Given the description of an element on the screen output the (x, y) to click on. 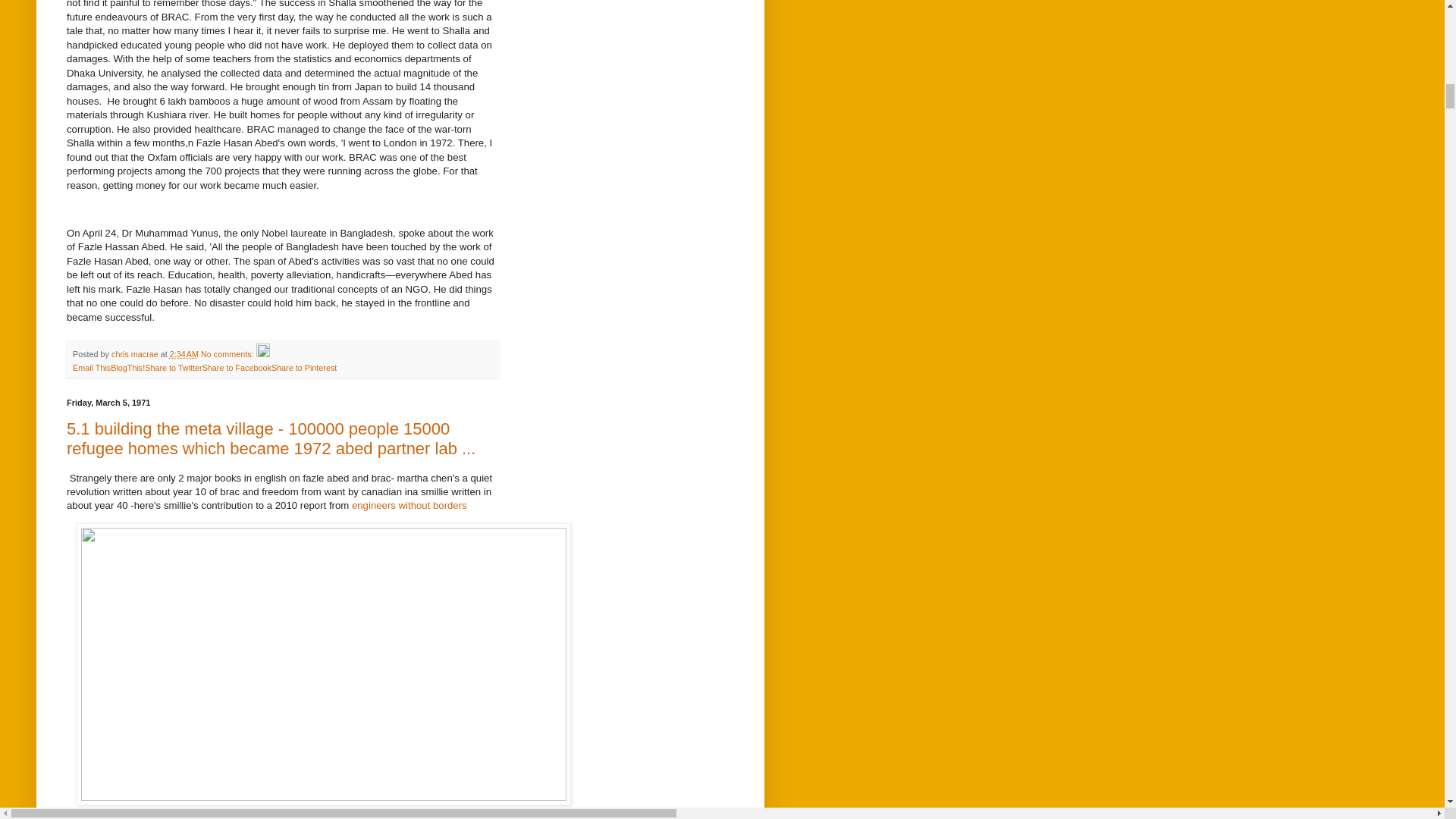
Share to Pinterest (303, 367)
permanent link (184, 353)
engineers without borders (407, 505)
Edit Post (262, 353)
No comments: (228, 353)
chris macrae (136, 353)
Email This (91, 367)
author profile (136, 353)
Share to Twitter (173, 367)
Email This (91, 367)
Share to Facebook (236, 367)
BlogThis! (127, 367)
